Given the description of an element on the screen output the (x, y) to click on. 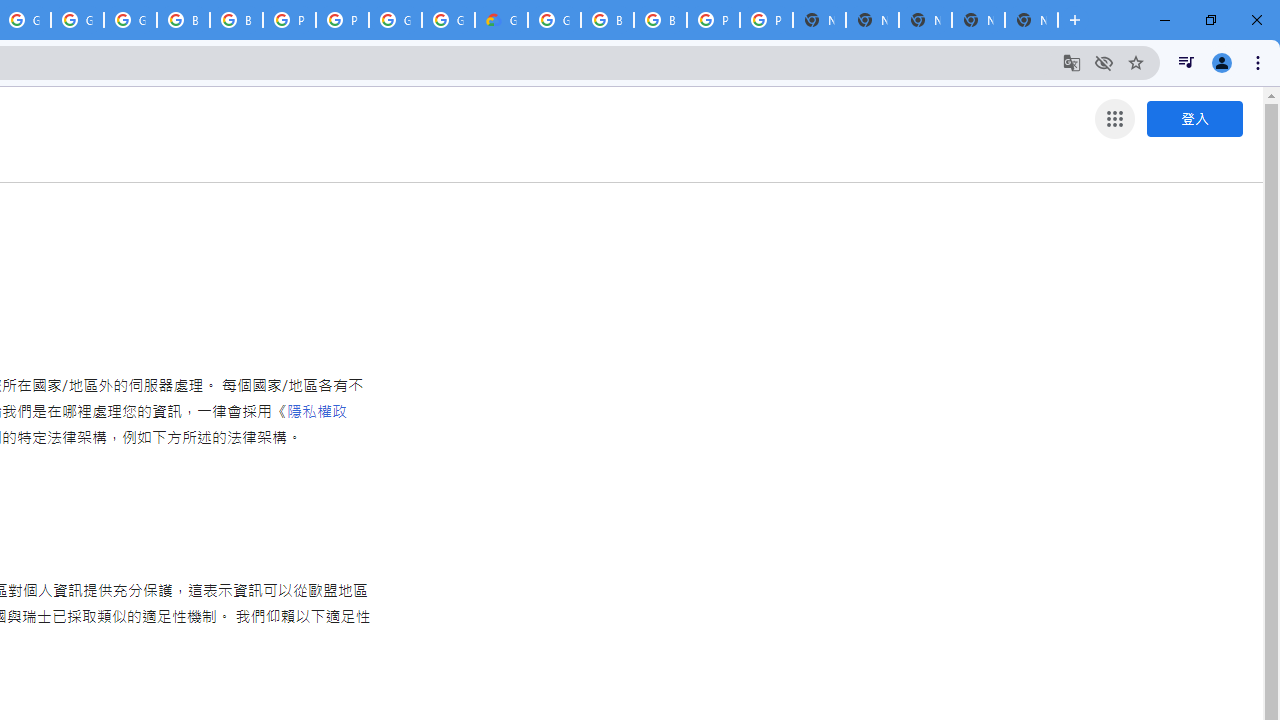
Google Cloud Platform (554, 20)
Google Cloud Platform (448, 20)
New Tab (1031, 20)
